Given the description of an element on the screen output the (x, y) to click on. 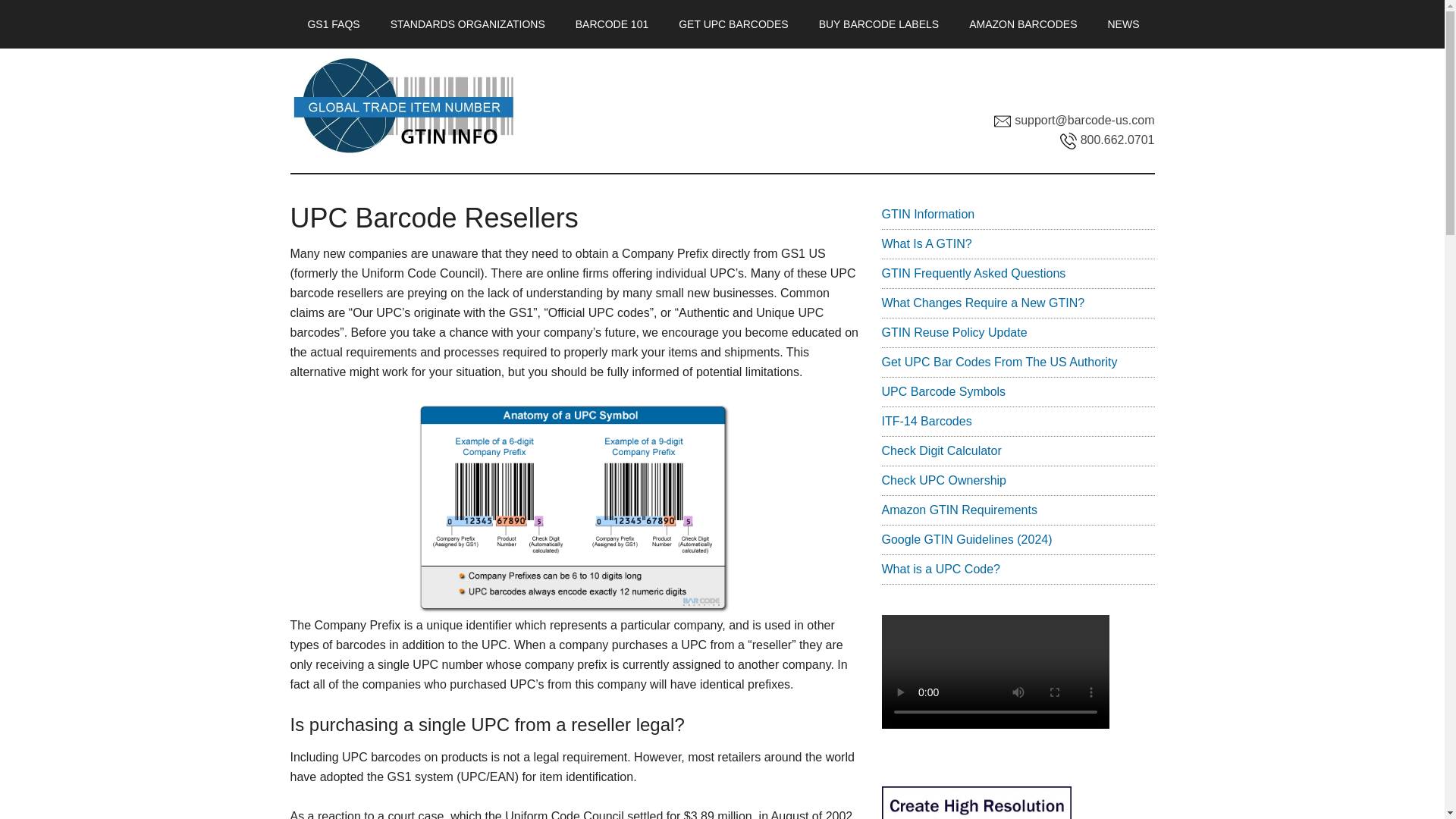
Check UPC Ownership (943, 480)
AMAZON BARCODES (1022, 24)
800.662.0701 (1106, 139)
What is a UPC Code? (940, 568)
ITF-14 Barcodes (925, 420)
Get UPC Bar Codes From The US Authority (998, 361)
BUY BARCODE LABELS (878, 24)
What Changes Require a New GTIN? (982, 302)
BARCODE 101 (611, 24)
GTIN Information (927, 214)
